Given the description of an element on the screen output the (x, y) to click on. 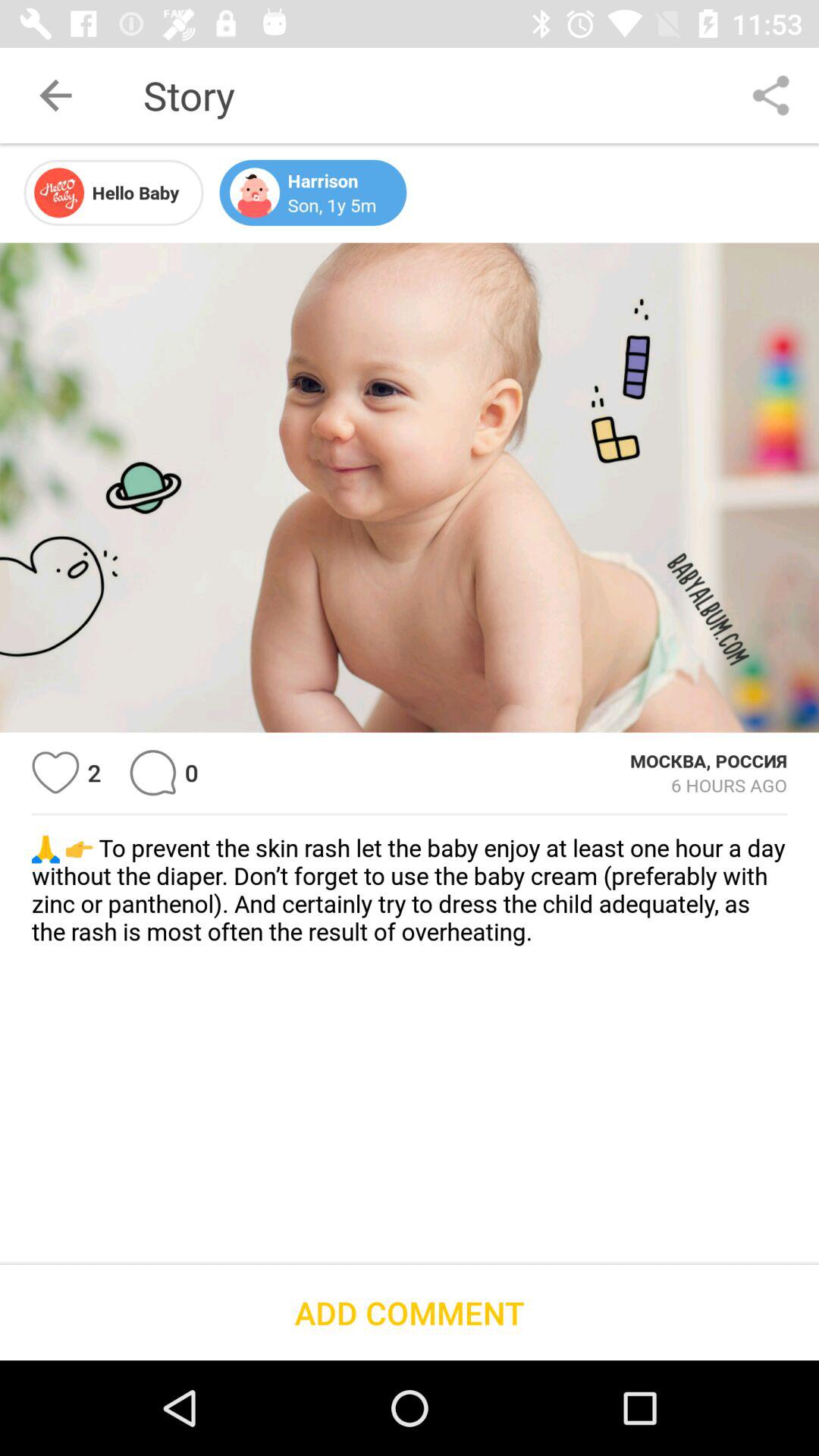
save to favorites (55, 772)
